Given the description of an element on the screen output the (x, y) to click on. 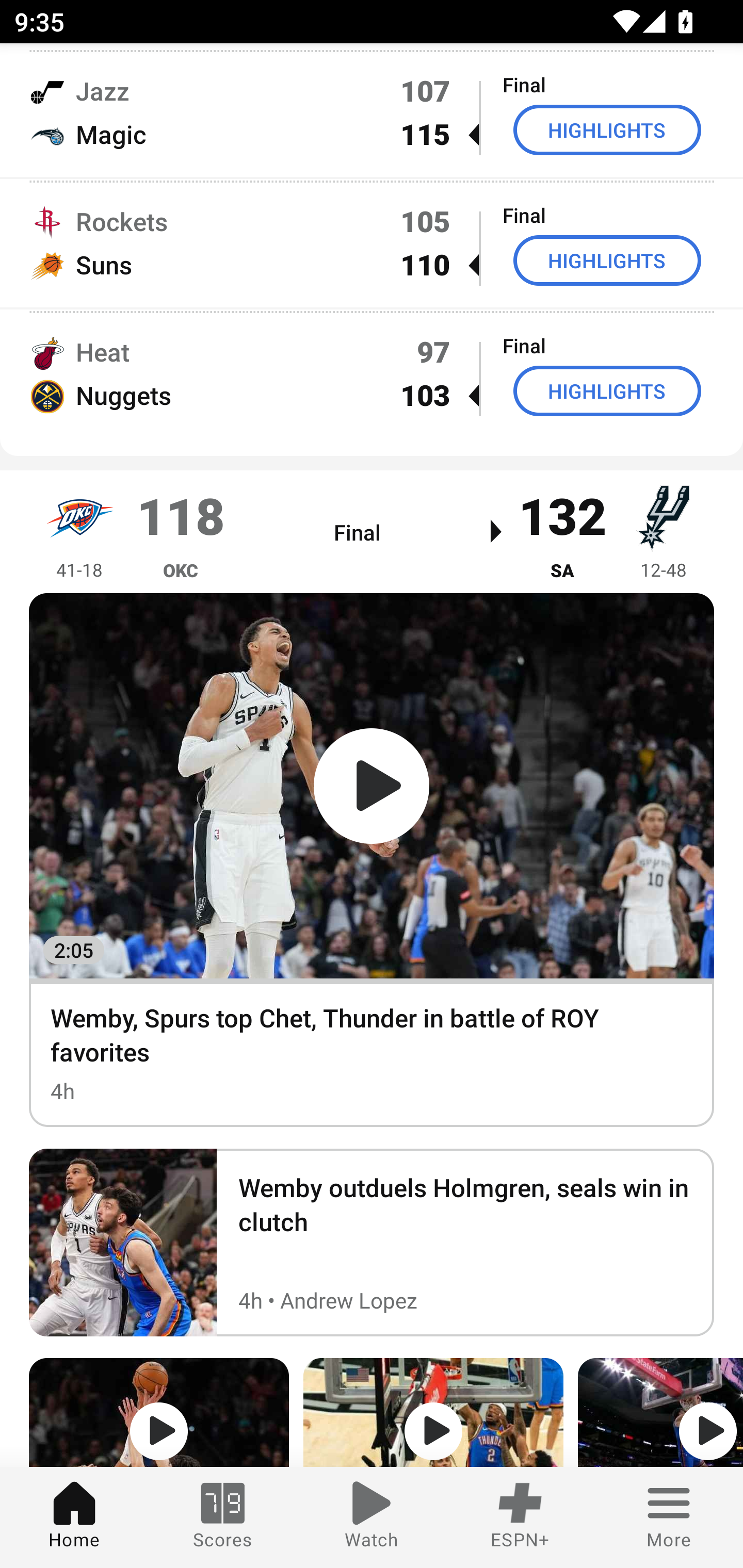
Jazz 107 Final Magic 115  HIGHLIGHTS (371, 112)
HIGHLIGHTS (607, 130)
Rockets 105 Final Suns 110  HIGHLIGHTS (371, 242)
HIGHLIGHTS (607, 260)
Heat 97 Final Nuggets 103  HIGHLIGHTS (371, 372)
HIGHLIGHTS (607, 390)
 (158, 1412)
 (433, 1412)
 (660, 1412)
Scores (222, 1517)
Watch (371, 1517)
ESPN+ (519, 1517)
More (668, 1517)
